Given the description of an element on the screen output the (x, y) to click on. 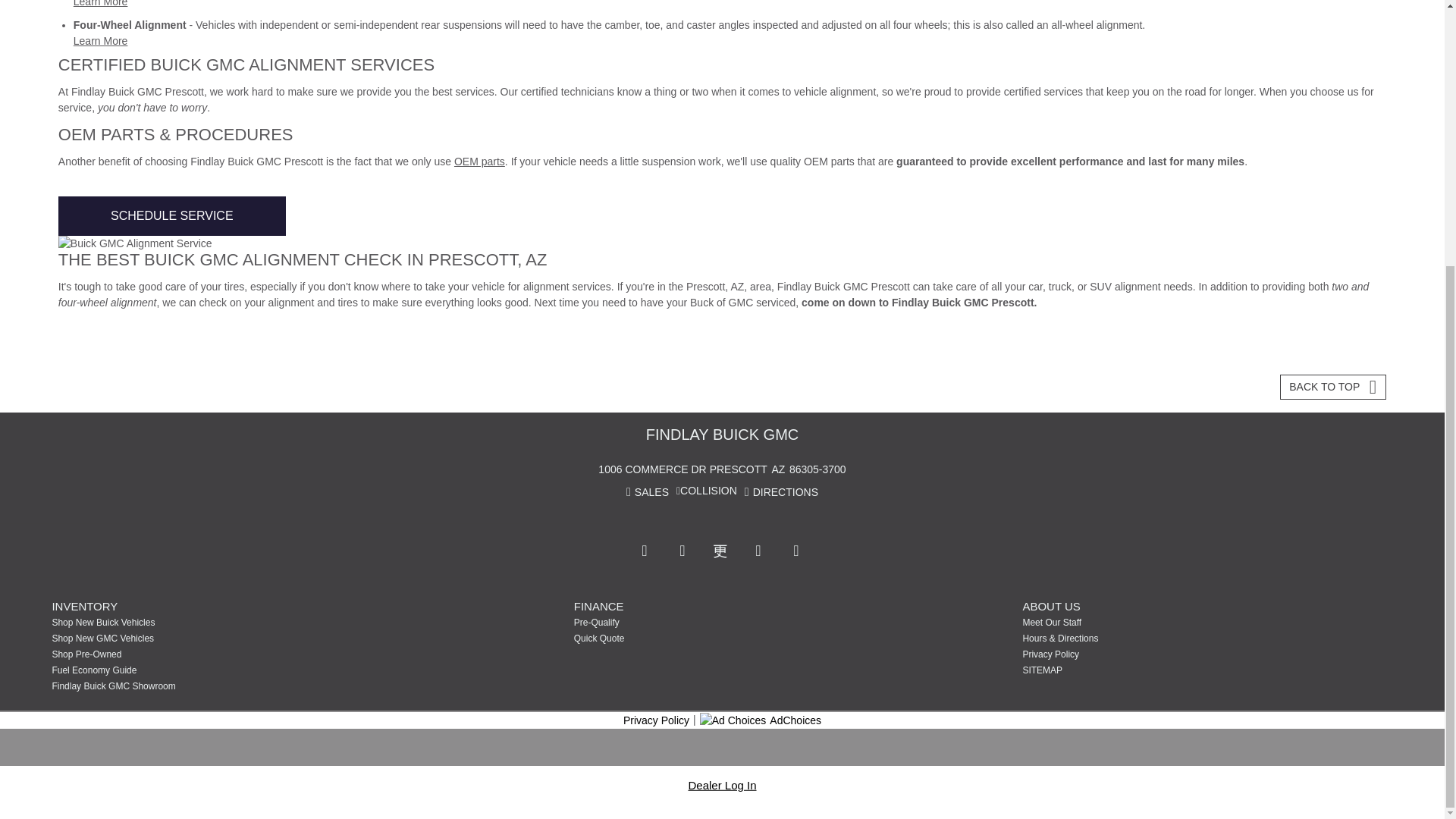
Findlay Buick GMC Model Showroom (164, 685)
Get a Quick Quote (687, 638)
Fuel Economy Guide (164, 670)
Shop New Buick Vehicles (164, 622)
Back to Top (1332, 386)
Shop Pre-Owned (164, 653)
PLEASE CLICK HERE TO ACCESS SITEMAP XML (1135, 670)
Finance Pre-Qualification Form (687, 622)
Buick GMC Alignment Service (722, 243)
Meet Our Staff (1135, 622)
